Given the description of an element on the screen output the (x, y) to click on. 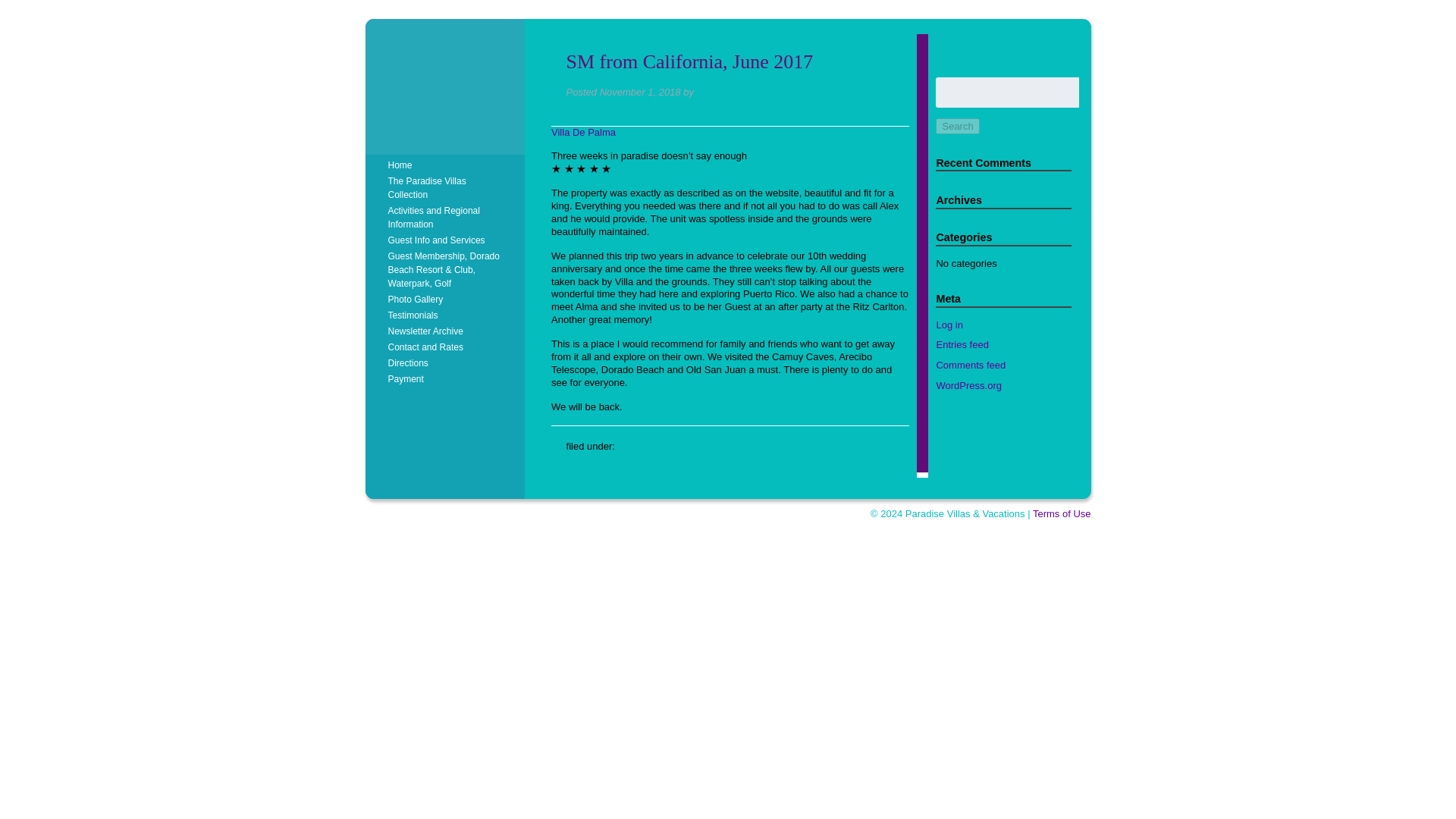
Comments feed (971, 365)
Home (446, 164)
Photo Gallery (446, 299)
WordPress.org (968, 385)
Terms of Use (1061, 513)
Guest Info and Services (446, 240)
The Paradise Villas Collection (446, 187)
Entries feed (962, 344)
Newsletter Archive (446, 331)
Log in (949, 324)
